Given the description of an element on the screen output the (x, y) to click on. 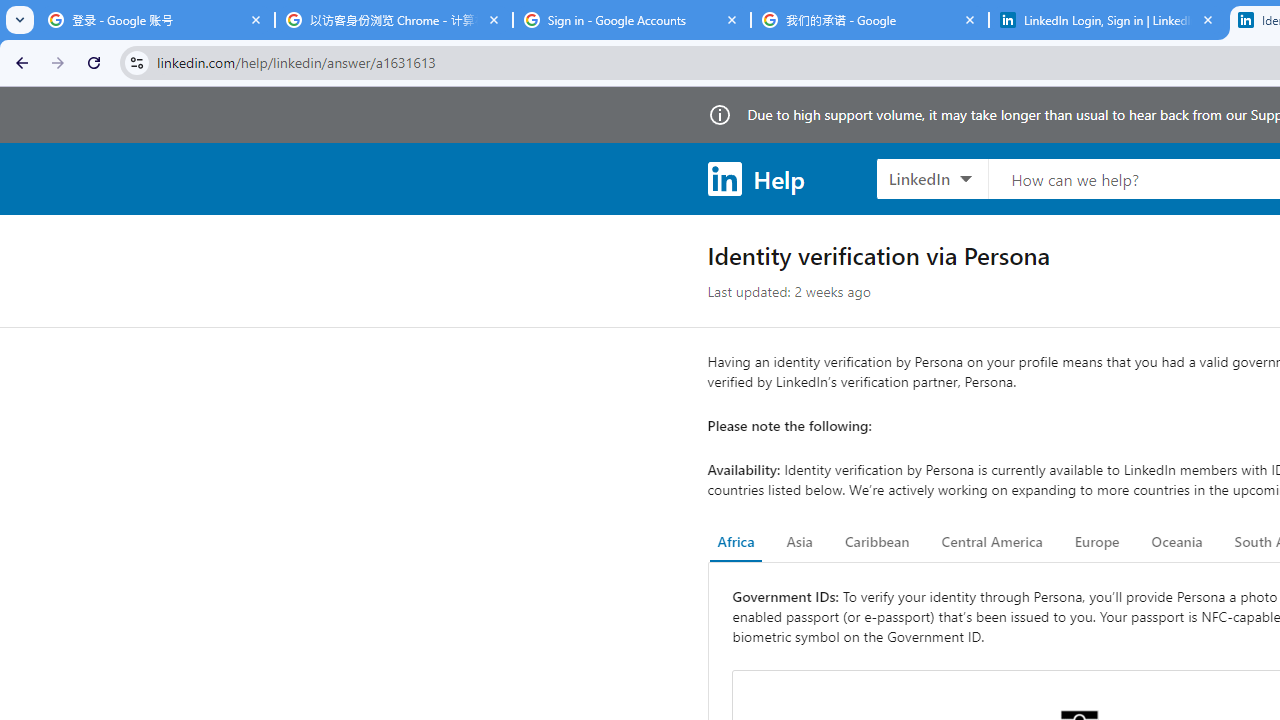
Caribbean (876, 542)
Africa (735, 542)
